Given the description of an element on the screen output the (x, y) to click on. 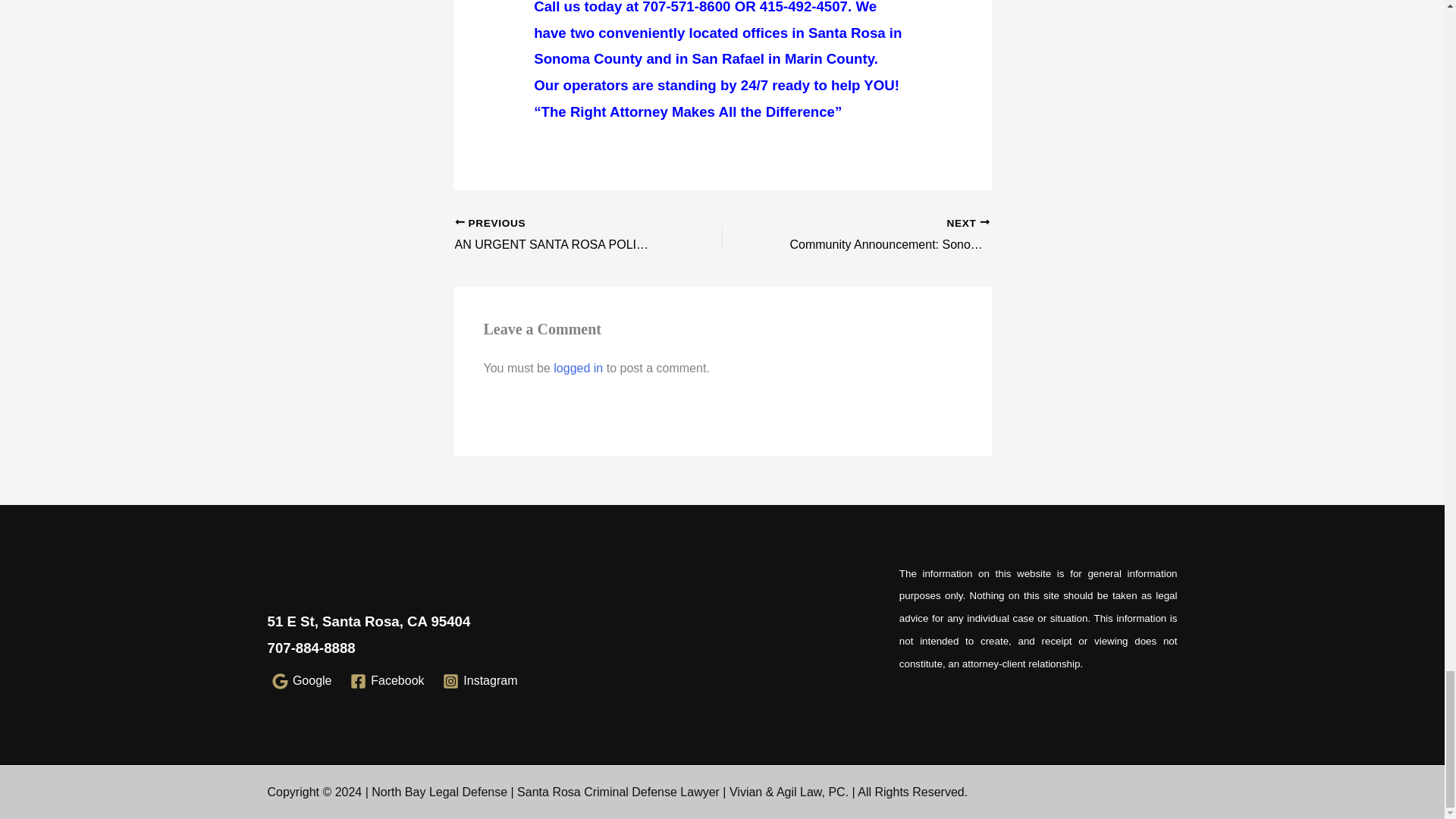
Google (301, 681)
51 E St, Santa Rosa, CA 95404 (368, 621)
logged in (577, 367)
707-884-8888 (310, 648)
